Given the description of an element on the screen output the (x, y) to click on. 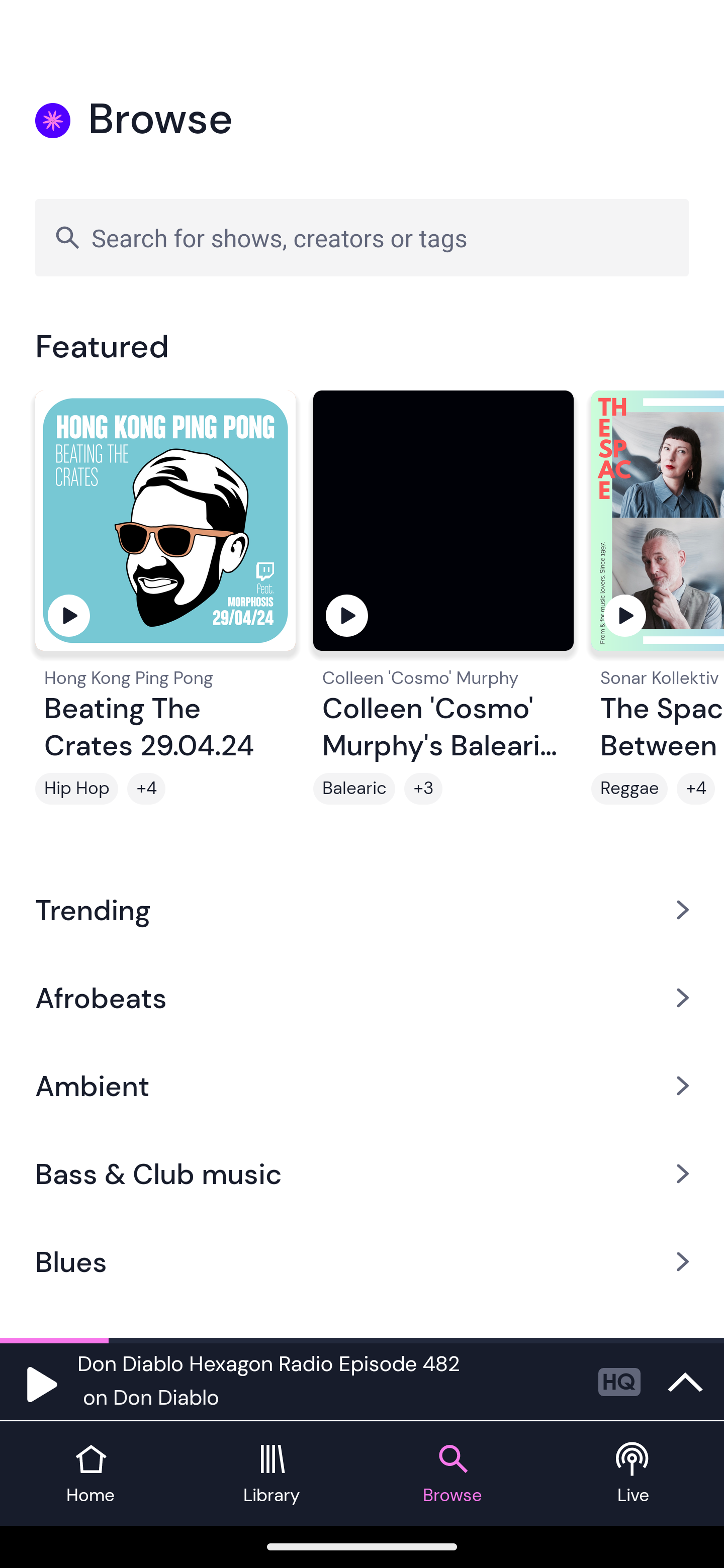
Search for shows, creators or tags (361, 237)
Hip Hop (76, 788)
Balearic (354, 788)
Reggae (629, 788)
Trending (361, 909)
Afrobeats (361, 997)
Ambient (361, 1085)
Bass & Club music (361, 1174)
Blues (361, 1262)
Home tab Home (90, 1473)
Library tab Library (271, 1473)
Browse tab Browse (452, 1473)
Live tab Live (633, 1473)
